Given the description of an element on the screen output the (x, y) to click on. 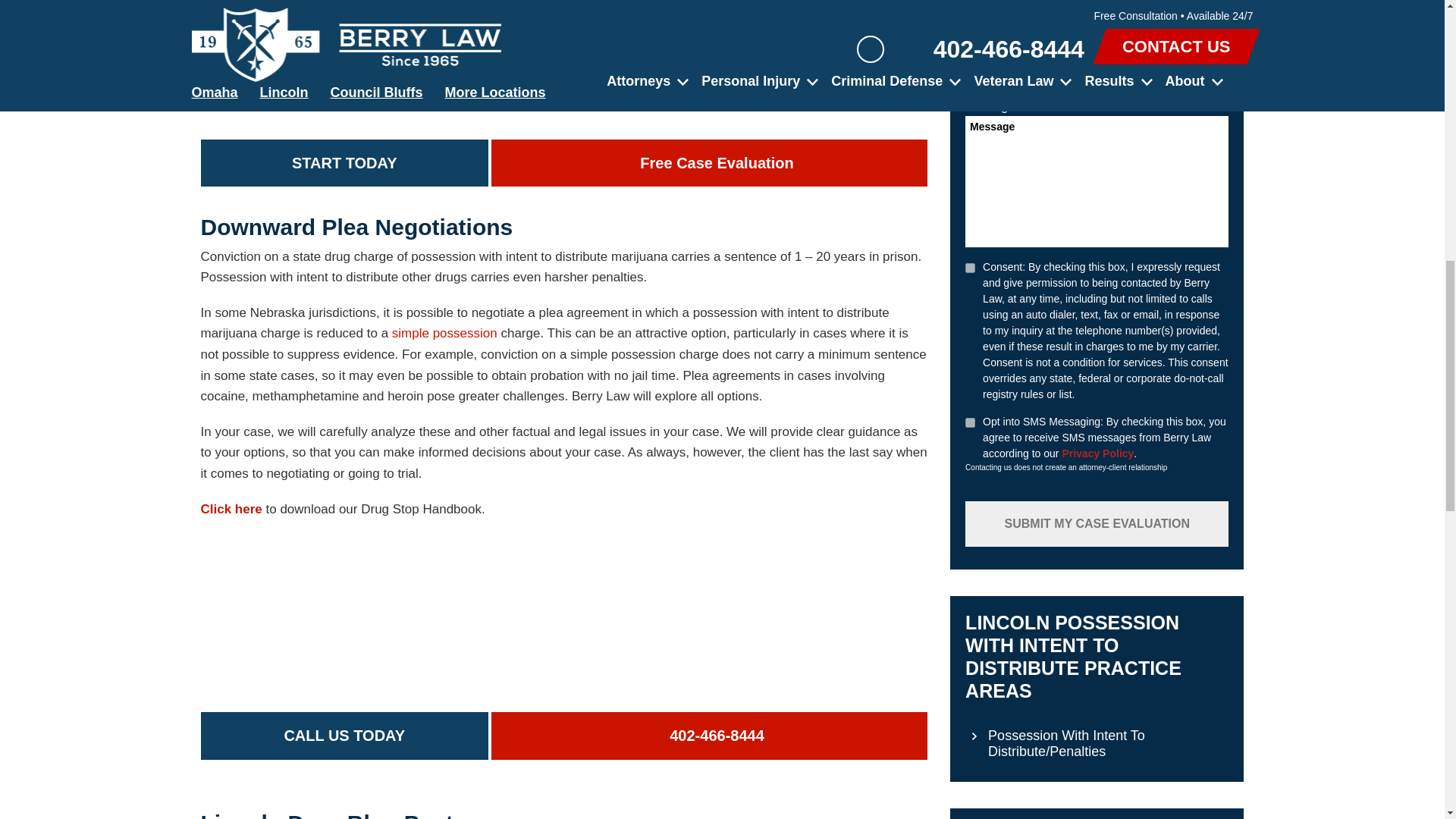
1 (970, 267)
1 (970, 422)
Submit My Case Evaluation (1096, 523)
